Given the description of an element on the screen output the (x, y) to click on. 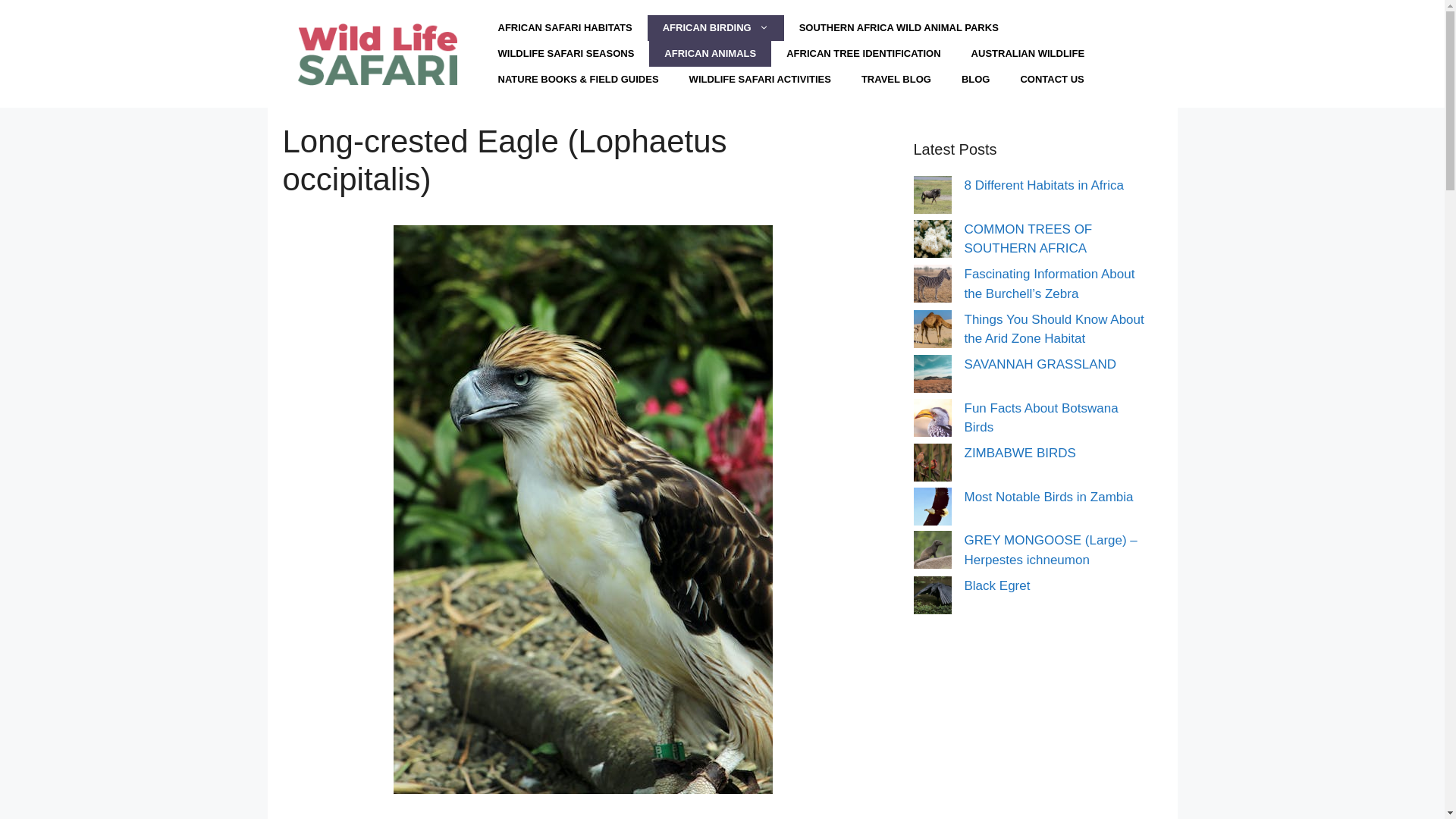
AFRICAN ANIMALS (710, 53)
SOUTHERN AFRICA WILD ANIMAL PARKS (898, 27)
AFRICAN TREE IDENTIFICATION (863, 53)
TRAVEL BLOG (895, 79)
CONTACT US (1051, 79)
AUSTRALIAN WILDLIFE (1027, 53)
AFRICAN SAFARI HABITATS (563, 27)
WILDLIFE SAFARI SEASONS (565, 53)
WILDLIFE SAFARI ACTIVITIES (759, 79)
AFRICAN BIRDING (715, 27)
BLOG (976, 79)
